Given the description of an element on the screen output the (x, y) to click on. 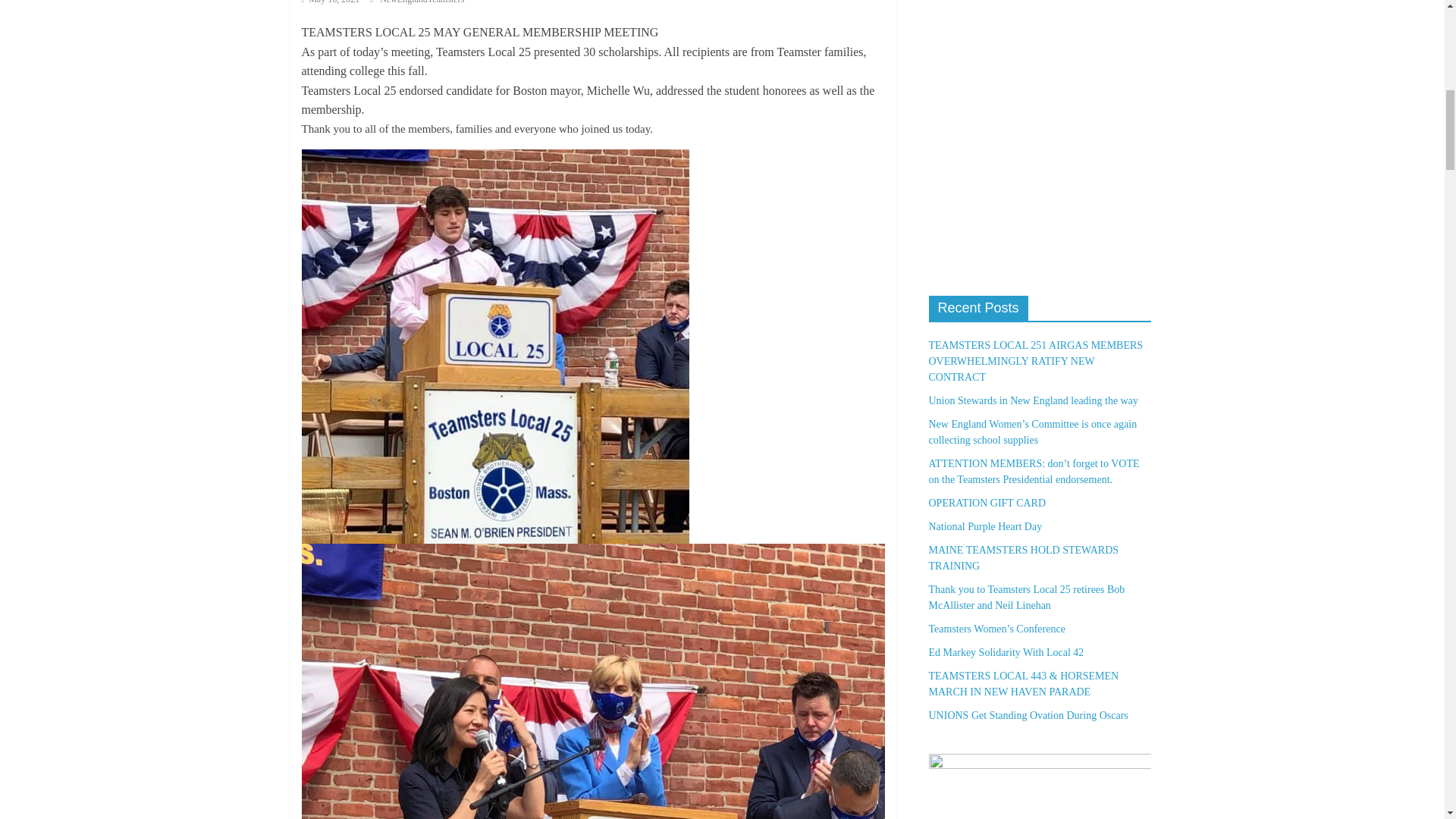
Ed Markey Solidarity With Local 42 (1005, 652)
1:56 pm (330, 2)
National Purple Heart Day (985, 526)
OPERATION GIFT CARD (986, 502)
NewEnglandTeamsters (422, 2)
NewEnglandTeamsters (422, 2)
Union Stewards in New England leading the way (1032, 400)
MAINE TEAMSTERS HOLD STEWARDS TRAINING (1023, 557)
